Given the description of an element on the screen output the (x, y) to click on. 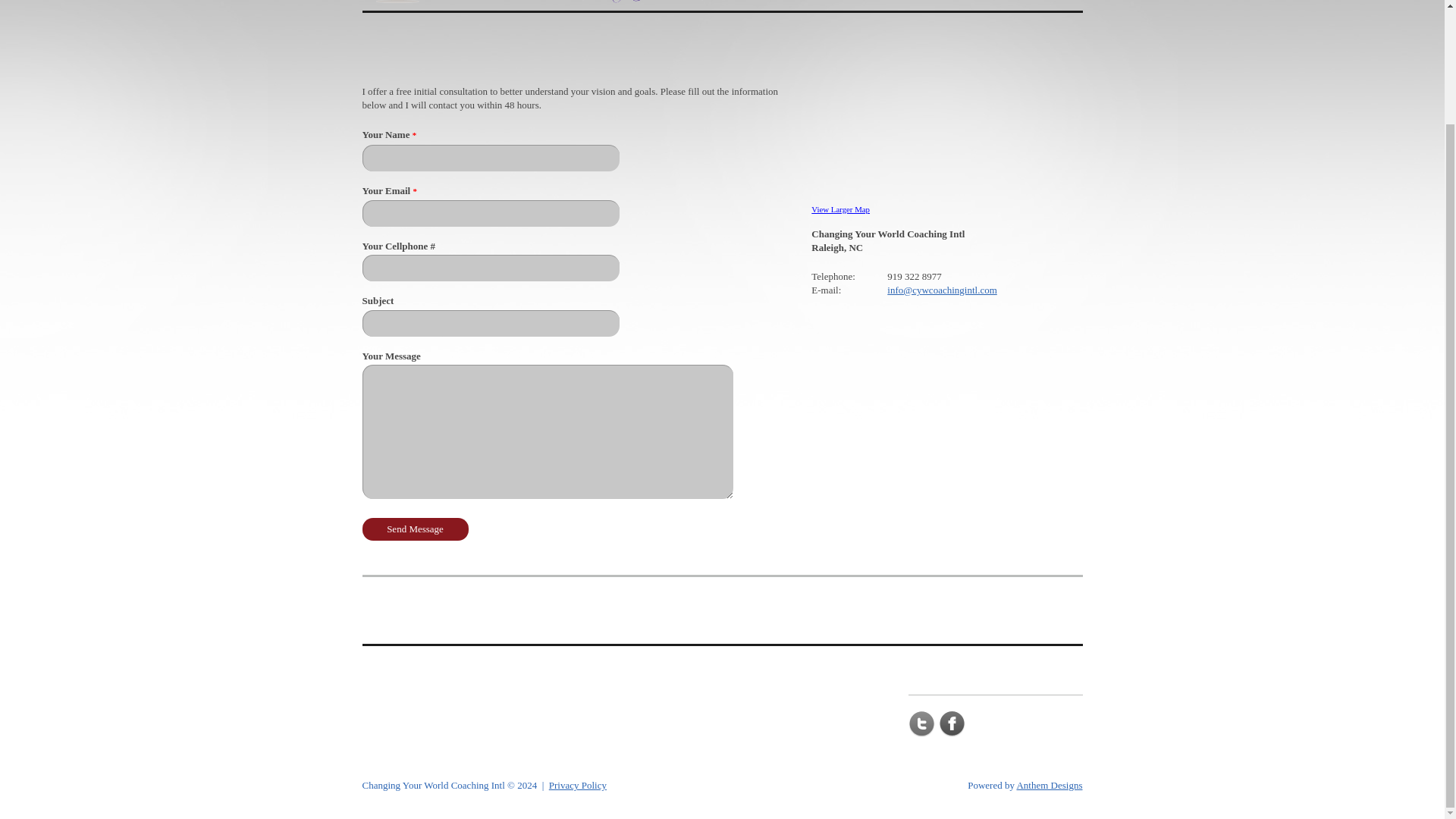
Crafted by Heart. (1048, 785)
Privacy Policy (577, 785)
Send Message (415, 528)
Send Message (415, 528)
Anthem Designs (1048, 785)
Changing Your World Coaching Intl (433, 785)
View Larger Map (839, 208)
twitter (921, 724)
facebook (952, 724)
